Given the description of an element on the screen output the (x, y) to click on. 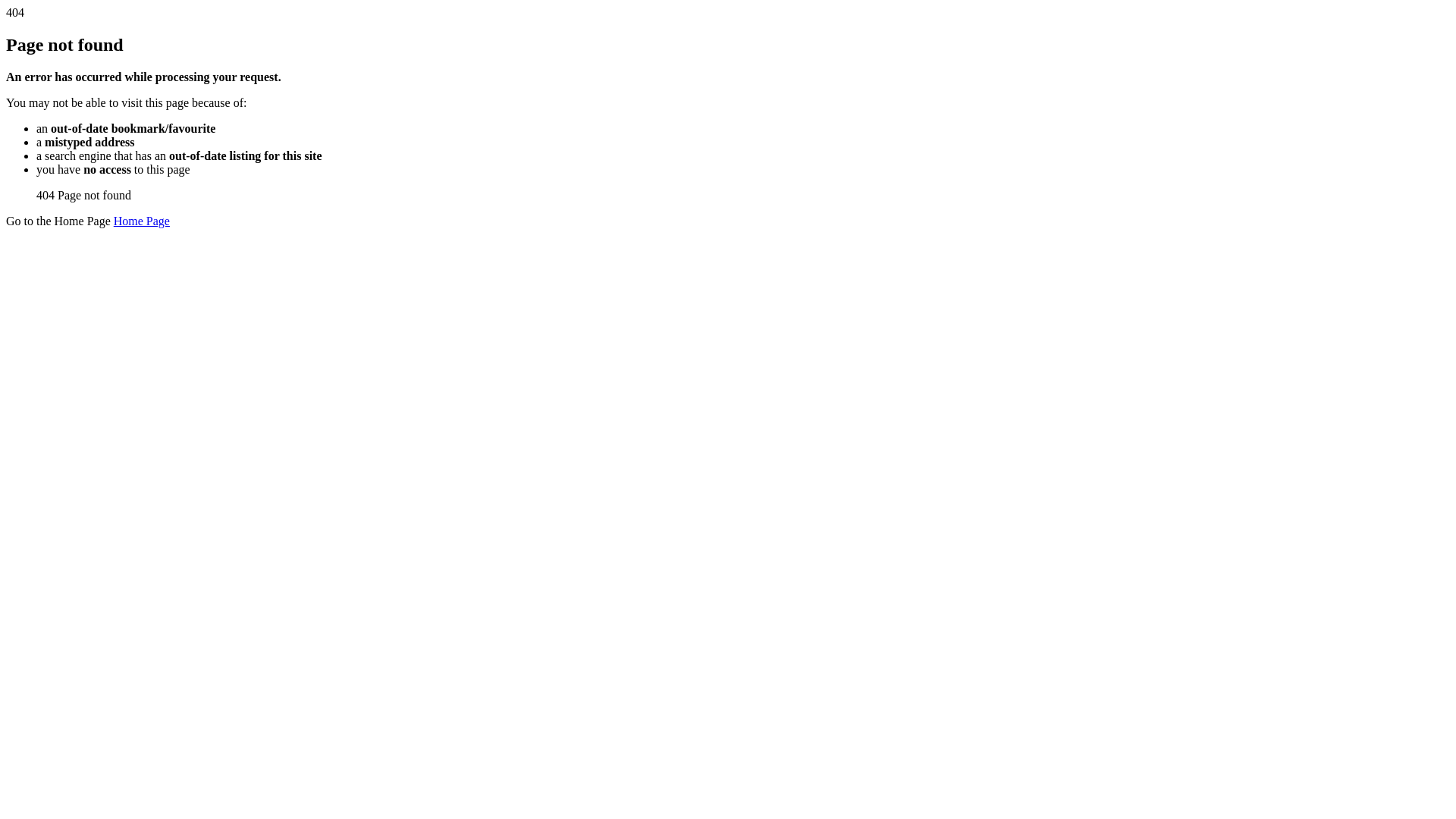
Home Page Element type: text (141, 220)
